Given the description of an element on the screen output the (x, y) to click on. 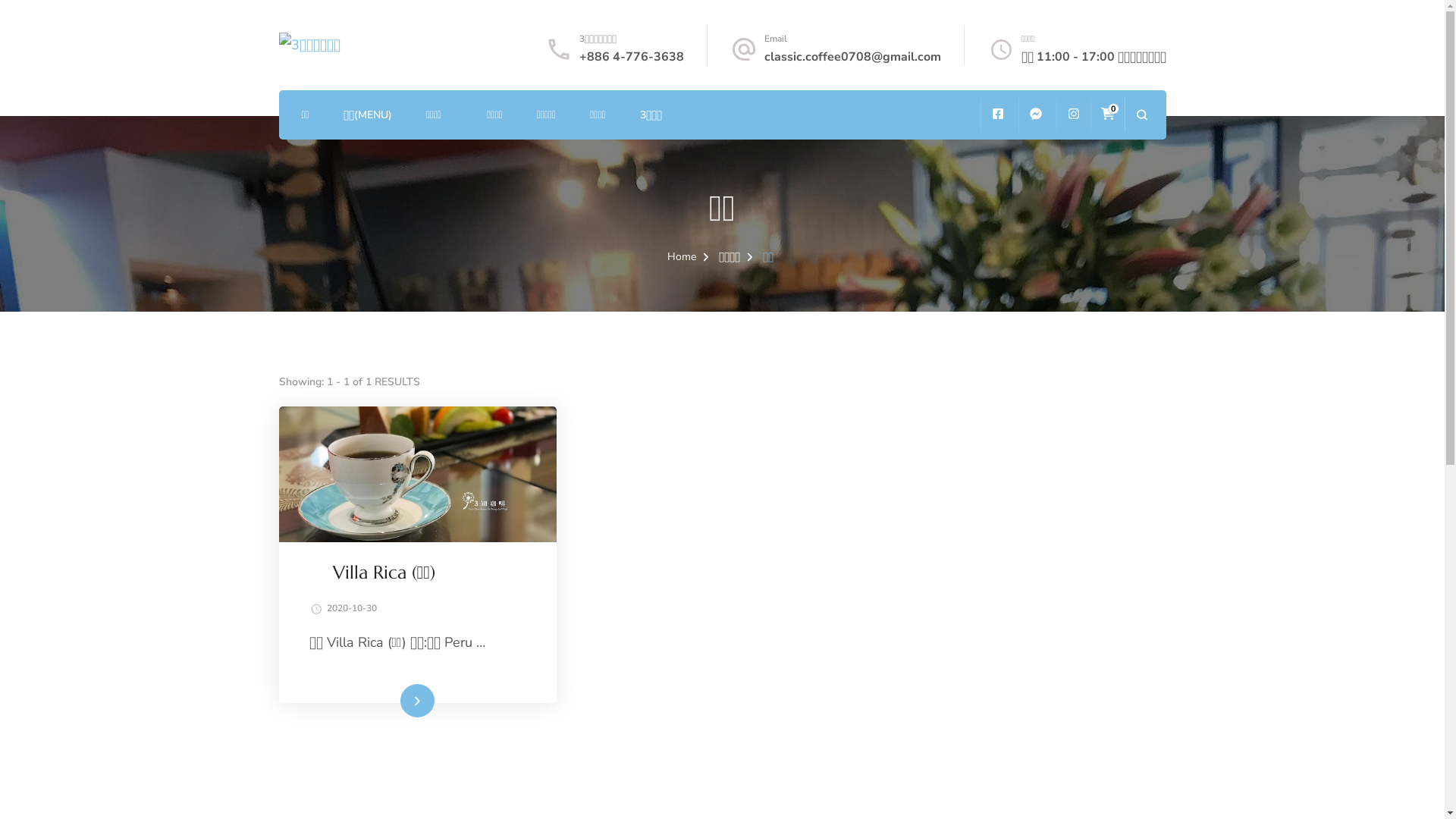
Read More Element type: text (417, 700)
2020-10-30 Element type: text (351, 608)
0 Element type: text (1107, 114)
+886 4-776-3638 Element type: text (631, 56)
Home Element type: text (681, 256)
classic.coffee0708@gmail.com Element type: text (852, 56)
